Given the description of an element on the screen output the (x, y) to click on. 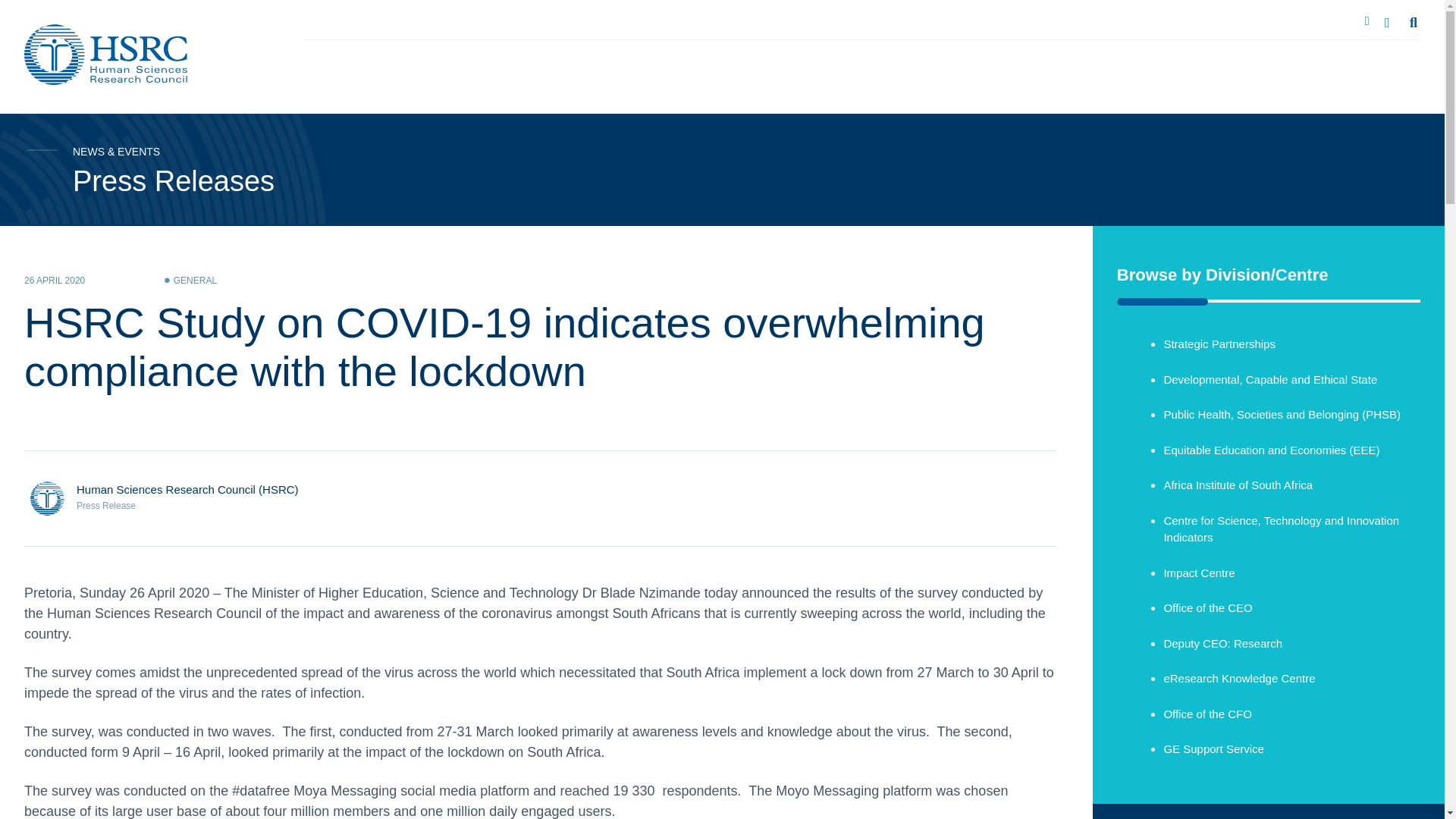
Africa Institute of South Africa (1238, 484)
Centre for Science, Technology and Innovation Indicators (1281, 529)
Office of the CEO (1207, 607)
GENERAL (194, 280)
Impact Centre (1198, 571)
Office of the CFO (1206, 712)
Strategic Partnerships (1219, 343)
Developmental, Capable and Ethical State (1270, 379)
eResearch Knowledge Centre (1238, 677)
Deputy CEO: Research (1222, 643)
